Given the description of an element on the screen output the (x, y) to click on. 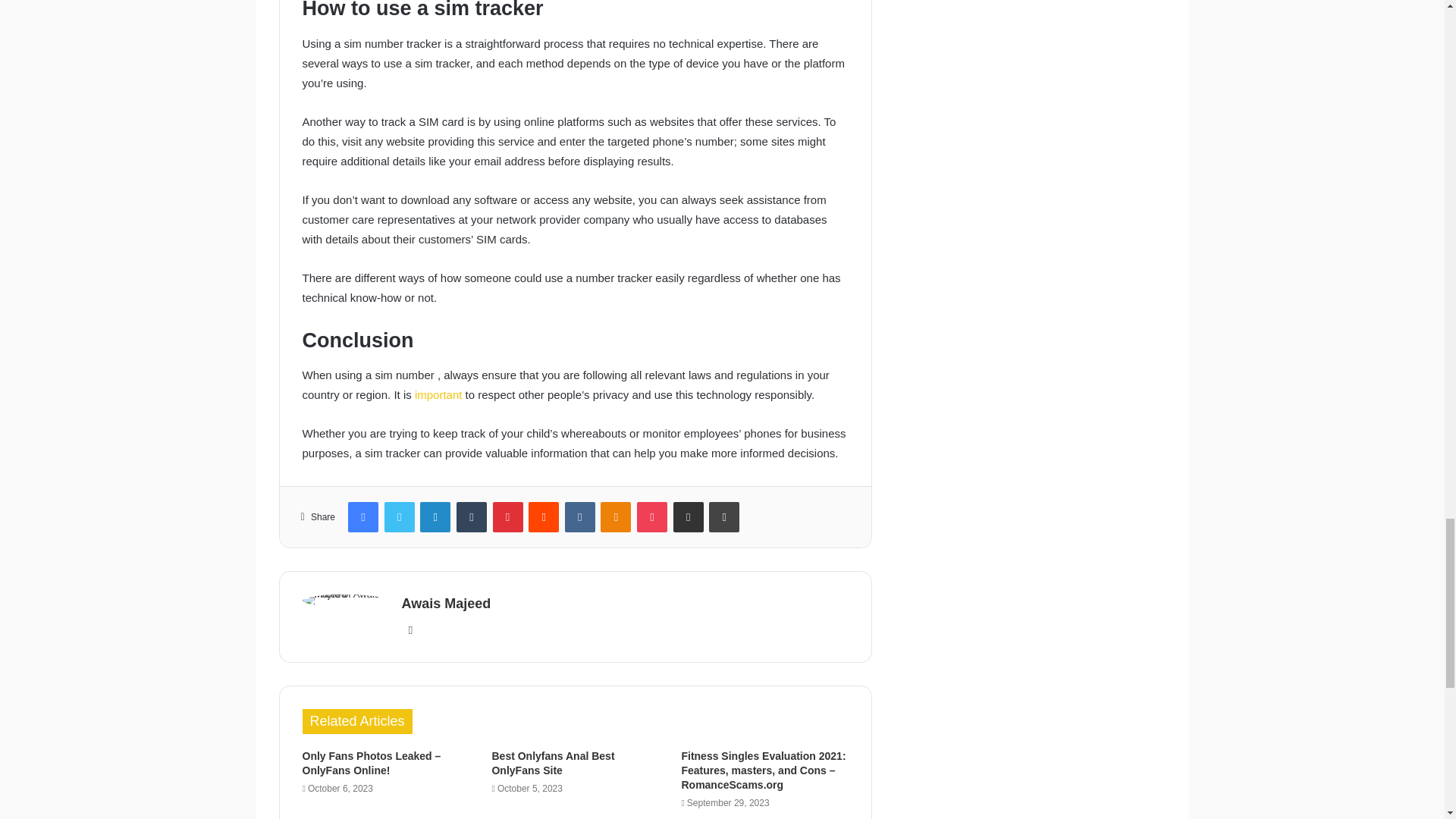
important (439, 394)
